Given the description of an element on the screen output the (x, y) to click on. 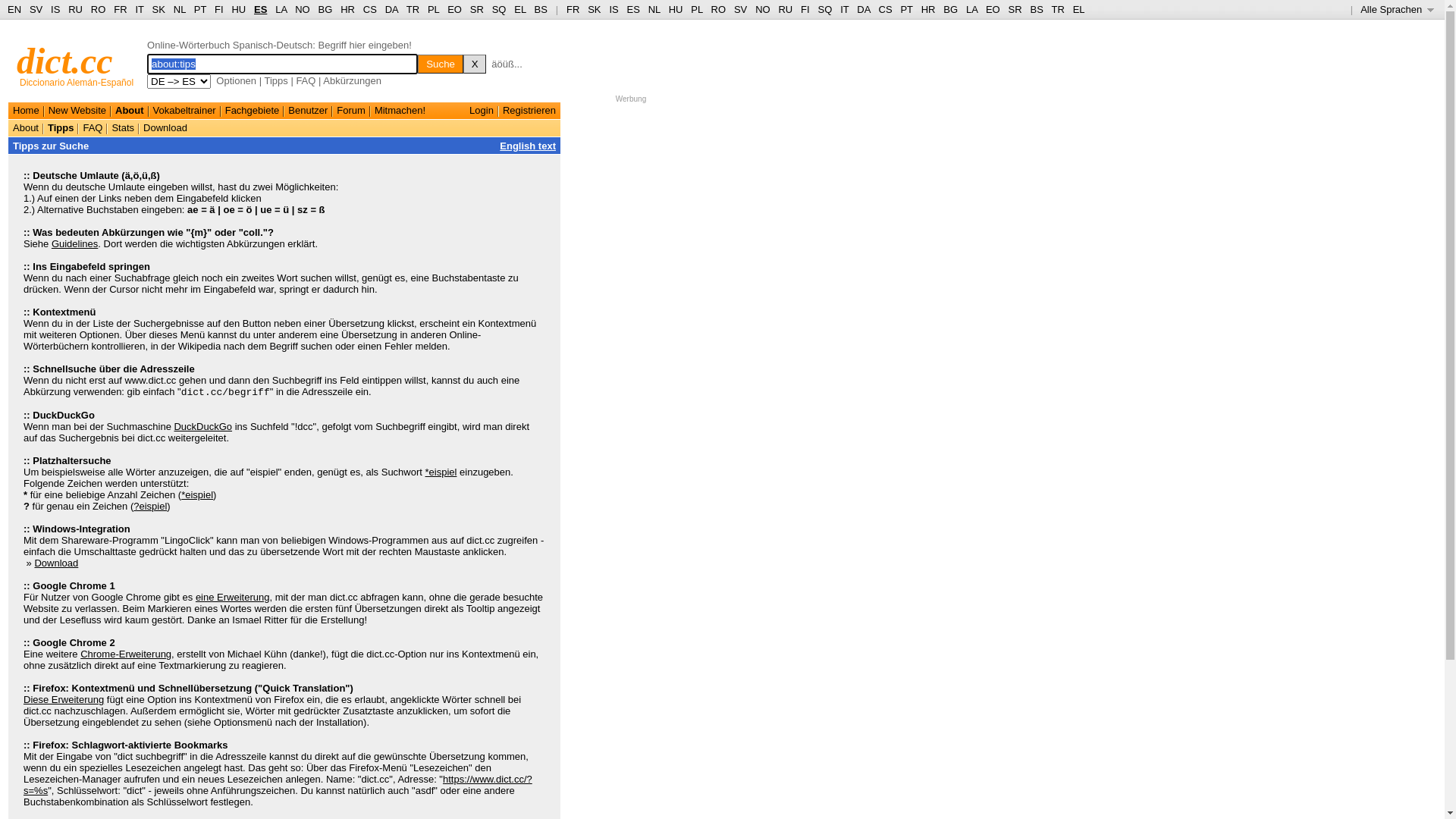
Guidelines Element type: text (74, 243)
IT Element type: text (844, 9)
DuckDuckGo Element type: text (202, 426)
IS Element type: text (54, 9)
PL Element type: text (696, 9)
FR Element type: text (572, 9)
SQ Element type: text (499, 9)
IT Element type: text (138, 9)
Tipps Element type: text (60, 127)
CS Element type: text (884, 9)
SR Element type: text (1015, 9)
PT Element type: text (200, 9)
DA Element type: text (391, 9)
Home Element type: text (25, 110)
SK Element type: text (158, 9)
RU Element type: text (785, 9)
NL Element type: text (179, 9)
FI Element type: text (218, 9)
SV Element type: text (740, 9)
NO Element type: text (302, 9)
Login Element type: text (481, 110)
eine Erweiterung Element type: text (232, 596)
SK Element type: text (593, 9)
Alle Sprachen  Element type: text (1397, 9)
dict.cc Element type: text (64, 60)
IS Element type: text (613, 9)
Diese Erweiterung Element type: text (63, 699)
Optionen Element type: text (236, 80)
FAQ Element type: text (92, 127)
NO Element type: text (762, 9)
LA Element type: text (971, 9)
PT Element type: text (906, 9)
BS Element type: text (540, 9)
Forum Element type: text (350, 110)
SV Element type: text (35, 9)
ES Element type: text (633, 9)
SR Element type: text (476, 9)
Benutzer Element type: text (307, 110)
About Element type: text (25, 127)
HR Element type: text (928, 9)
PL Element type: text (433, 9)
EO Element type: text (454, 9)
RO Element type: text (718, 9)
LA Element type: text (280, 9)
TR Element type: text (1057, 9)
Fachgebiete Element type: text (252, 110)
SQ Element type: text (824, 9)
NL Element type: text (654, 9)
HR Element type: text (347, 9)
?eispiel Element type: text (149, 505)
Vokabeltrainer Element type: text (184, 110)
About Element type: text (129, 110)
Chrome-Erweiterung Element type: text (125, 653)
Registrieren Element type: text (528, 110)
Mitmachen! Element type: text (399, 110)
EL Element type: text (1079, 9)
New Website Element type: text (77, 110)
FR Element type: text (119, 9)
FI Element type: text (804, 9)
Stats Element type: text (122, 127)
EL Element type: text (519, 9)
RU Element type: text (75, 9)
DA Element type: text (862, 9)
Suche Element type: text (440, 63)
HU Element type: text (675, 9)
*eispiel Element type: text (197, 494)
Download Element type: text (165, 127)
EO Element type: text (992, 9)
BG Element type: text (950, 9)
RO Element type: text (98, 9)
FAQ Element type: text (305, 80)
BS Element type: text (1035, 9)
English text Element type: text (527, 144)
Tipps Element type: text (275, 80)
CS Element type: text (369, 9)
TR Element type: text (412, 9)
*eispiel Element type: text (441, 471)
Download Element type: text (56, 562)
ES Element type: text (260, 9)
HU Element type: text (238, 9)
EN Element type: text (14, 9)
X Element type: text (474, 63)
https://www.dict.cc/?s=%s Element type: text (277, 784)
BG Element type: text (325, 9)
